Given the description of an element on the screen output the (x, y) to click on. 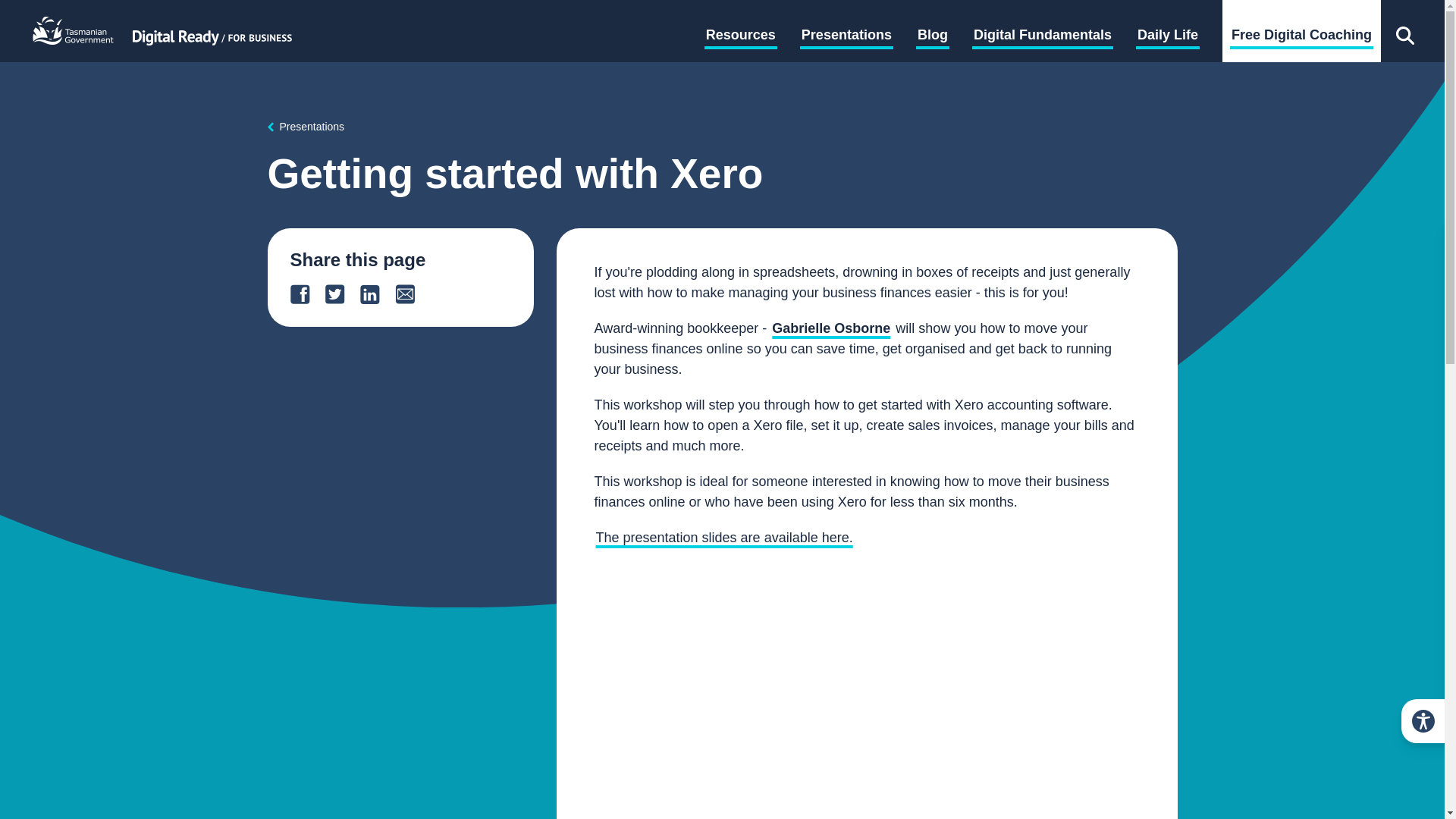
Home (212, 30)
Free Digital Coaching (1301, 35)
Presentations (304, 126)
Daily Life (1167, 35)
Share this via email (411, 293)
Website (826, 12)
Advertising (570, 12)
Social Media (906, 12)
Mobile (328, 12)
Analytics (756, 12)
Tasmanian Government (73, 30)
Online tools (78, 12)
Digital Fundamentals (1042, 35)
Share this on Twitter (341, 293)
Open search (1404, 31)
